Given the description of an element on the screen output the (x, y) to click on. 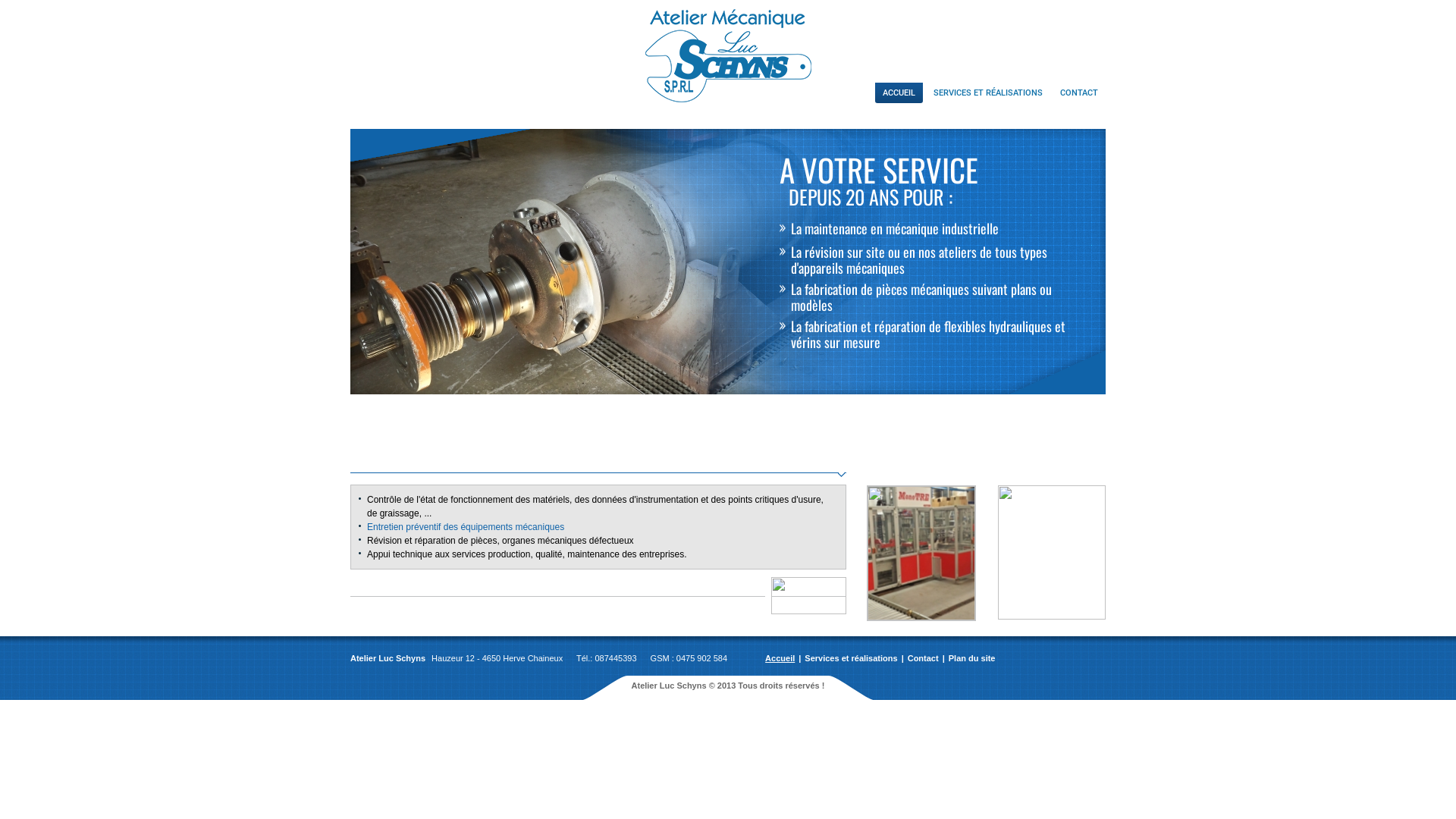
ACCUEIL Element type: text (898, 92)
CONTACT Element type: text (1078, 92)
Contact Element type: text (922, 657)
Atelier Luc Schyns Element type: hover (727, 59)
Cliquez pour agrandir Element type: hover (920, 553)
Visiter le site Webissimus Element type: hover (1065, 661)
Cliquez pour agrandir Element type: hover (1051, 552)
Plan du site Element type: text (971, 657)
Accueil Element type: text (779, 657)
